Given the description of an element on the screen output the (x, y) to click on. 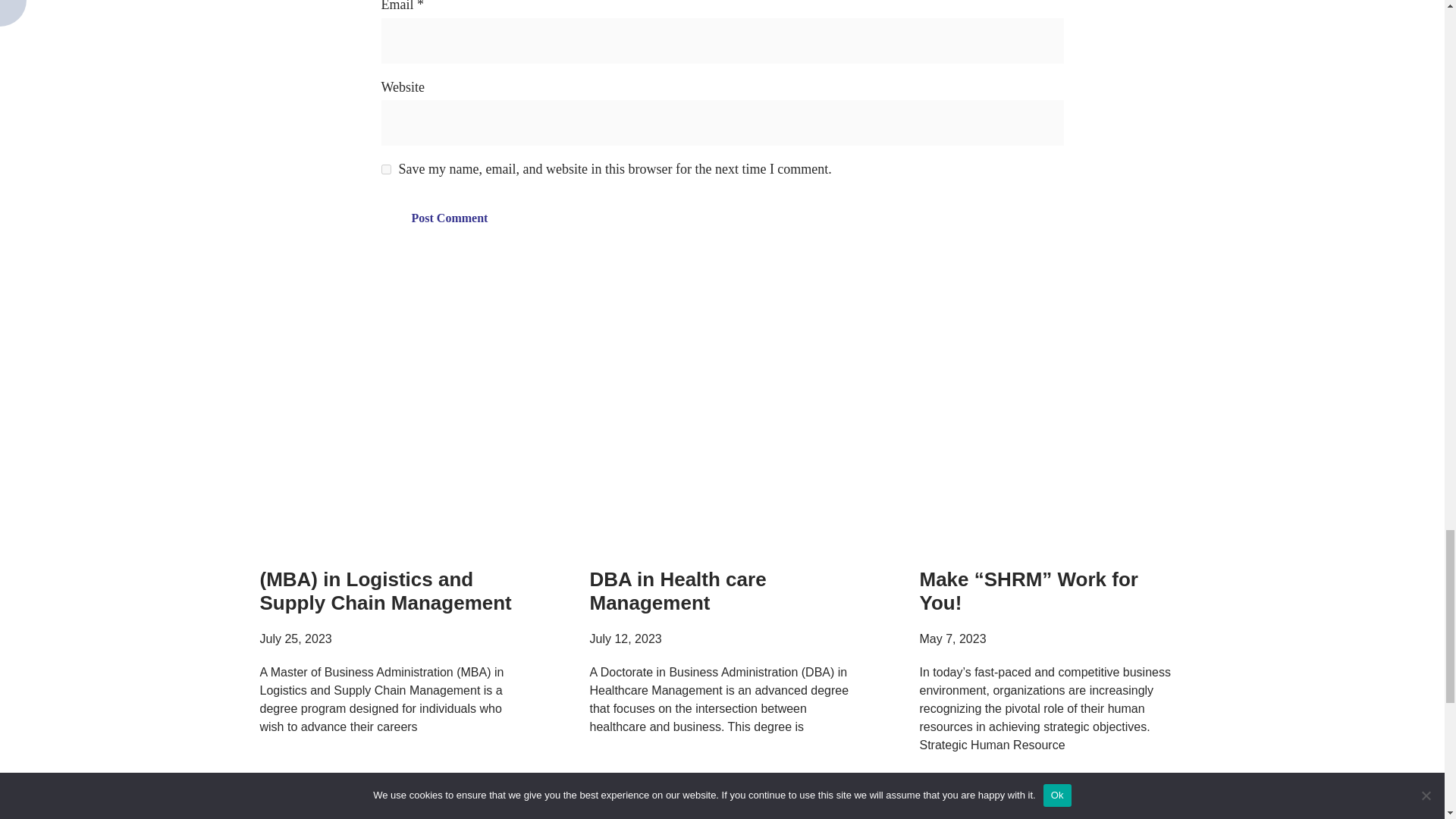
yes (385, 169)
Post Comment (449, 218)
